Given the description of an element on the screen output the (x, y) to click on. 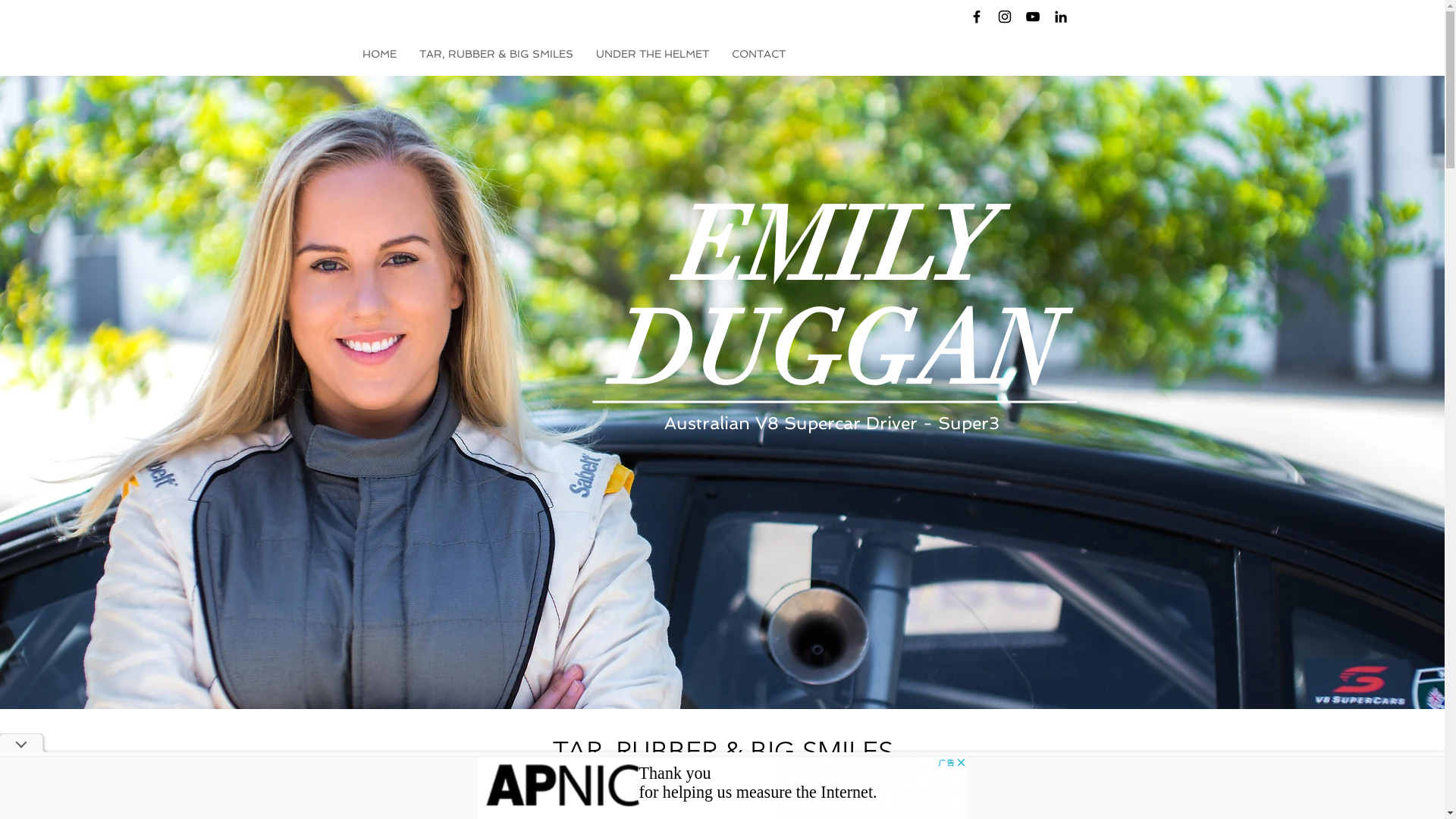
UNDER THE HELMET Element type: text (651, 53)
CONTACT Element type: text (758, 53)
HOME Element type: text (378, 53)
TAR, RUBBER & BIG SMILES Element type: text (495, 53)
